Given the description of an element on the screen output the (x, y) to click on. 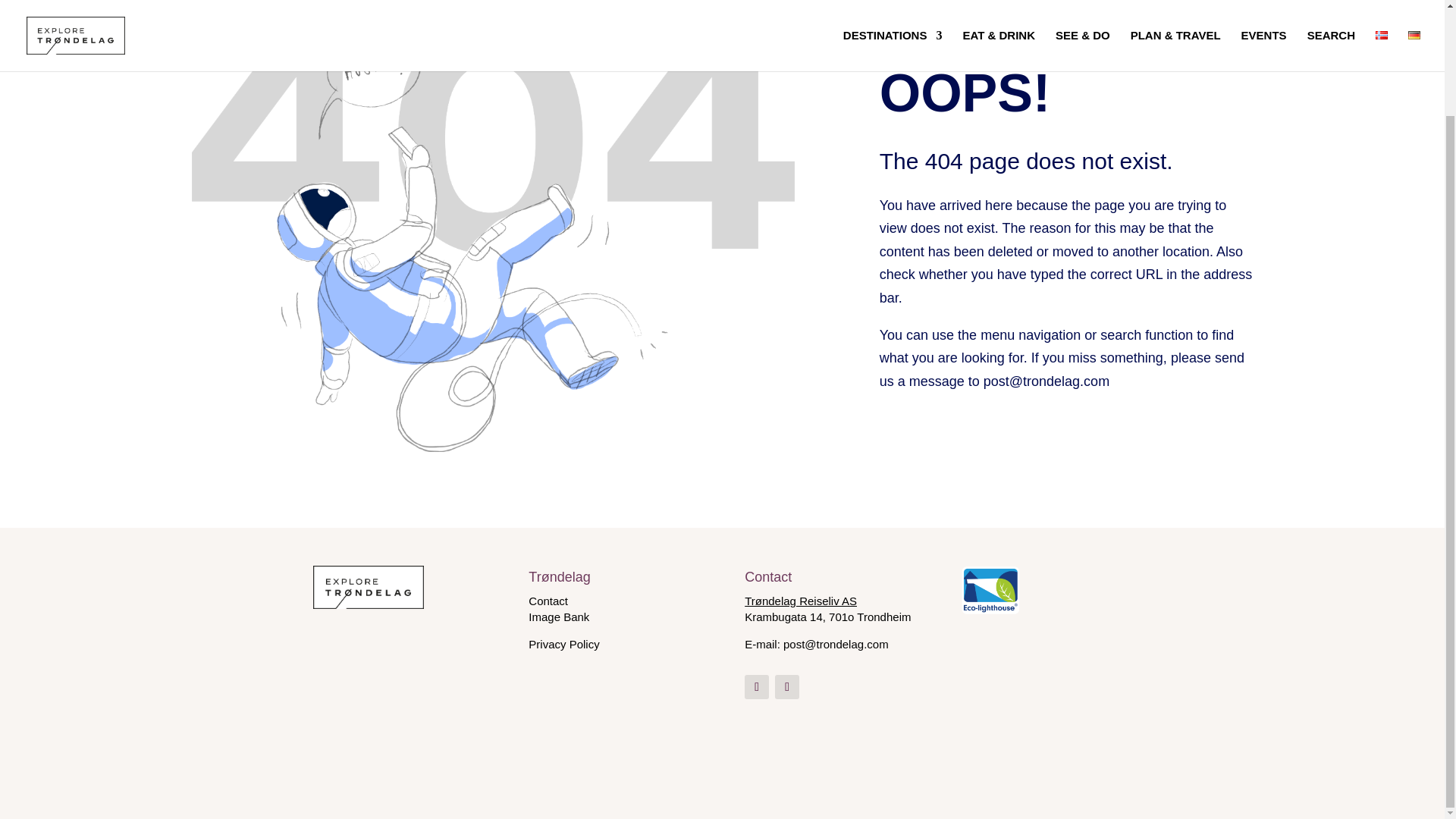
Image Bank (558, 616)
Privacy Policy (563, 644)
Contact (547, 600)
Follow on Instagram (786, 686)
Follow on Facebook (756, 686)
